Given the description of an element on the screen output the (x, y) to click on. 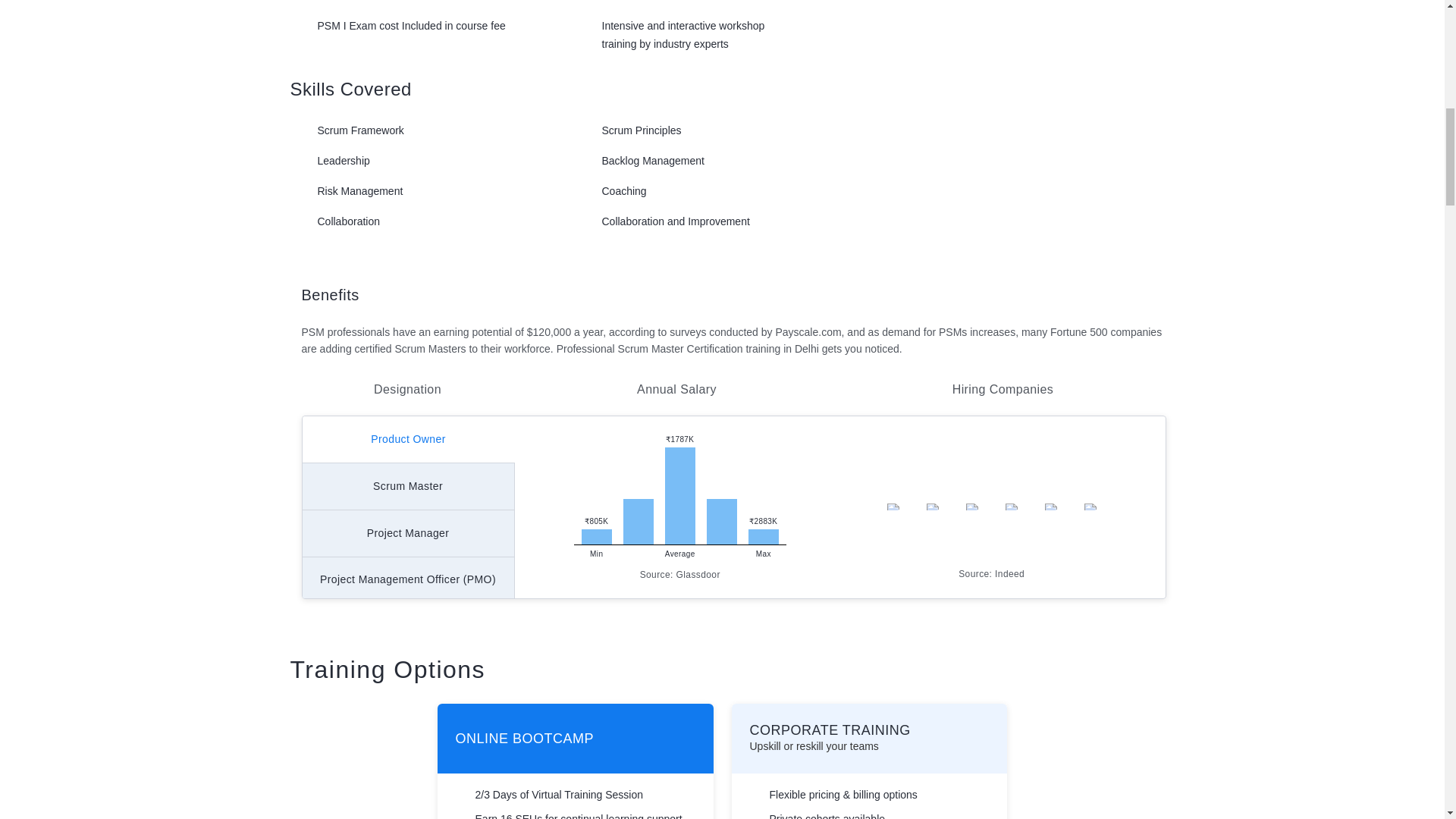
Product Owner (407, 439)
Project Manager (407, 533)
Scrum Master (407, 486)
